Given the description of an element on the screen output the (x, y) to click on. 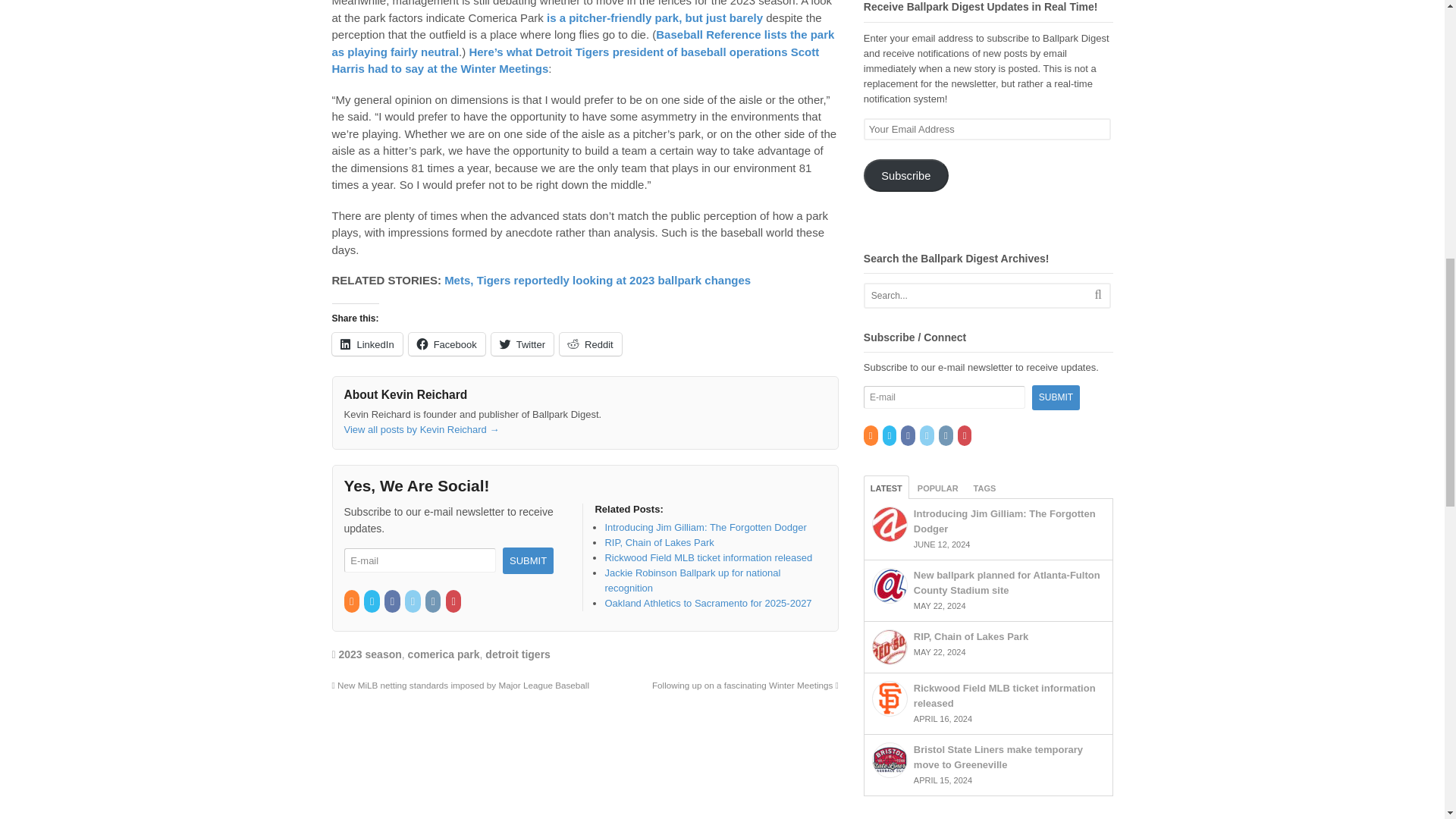
Search... (974, 295)
E-mail (944, 396)
Submit (1056, 397)
Click to share on Reddit (590, 343)
Submit (527, 560)
Click to share on Twitter (522, 343)
Click to share on Facebook (446, 343)
Click to share on LinkedIn (367, 343)
RSS (352, 601)
Facebook (392, 601)
E-mail (419, 560)
Twitter (372, 601)
